Given the description of an element on the screen output the (x, y) to click on. 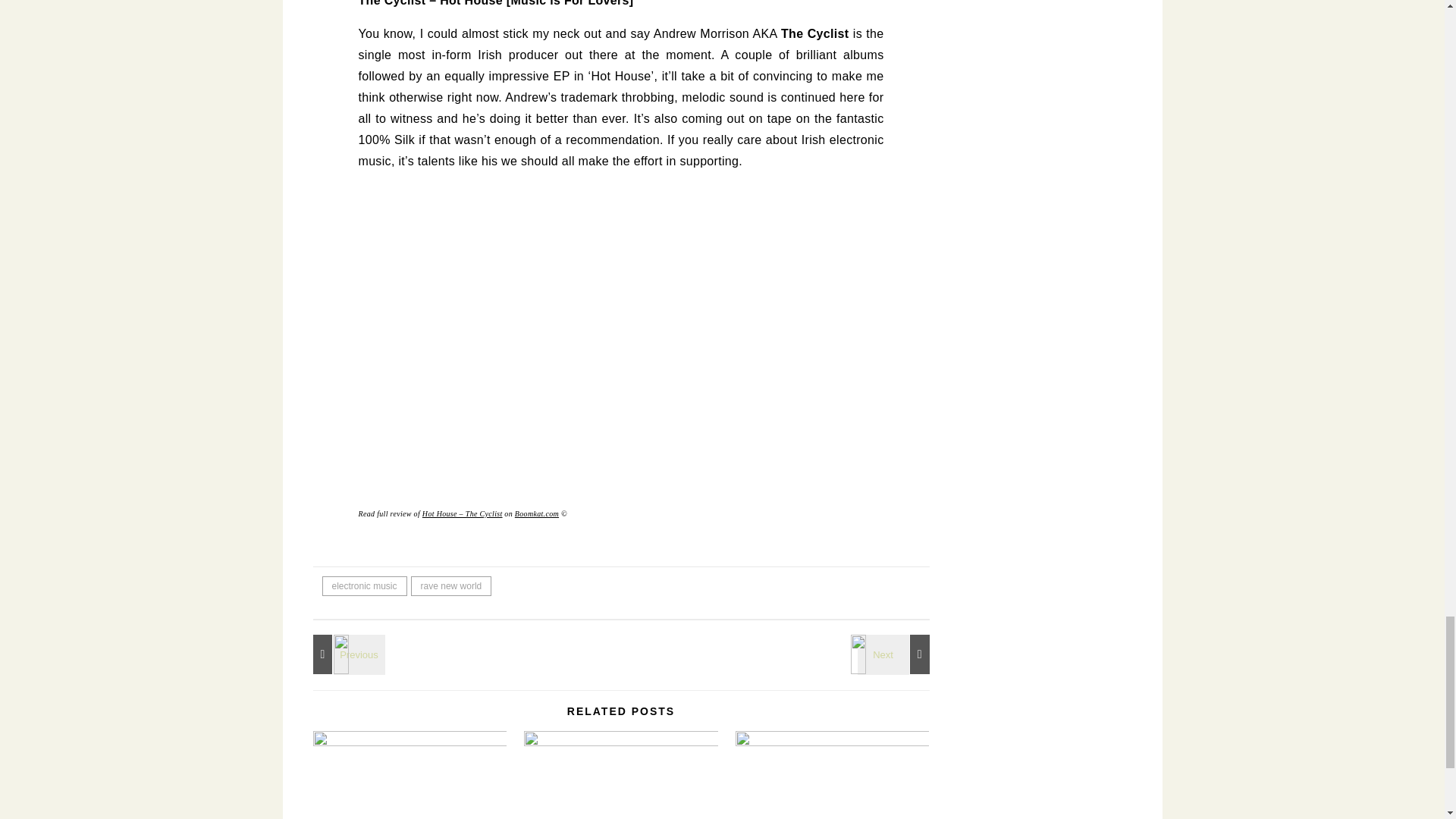
Exclusive: Stream Three Record Store Gay Tracks (346, 654)
Primer: Burn After Inking (895, 654)
